Given the description of an element on the screen output the (x, y) to click on. 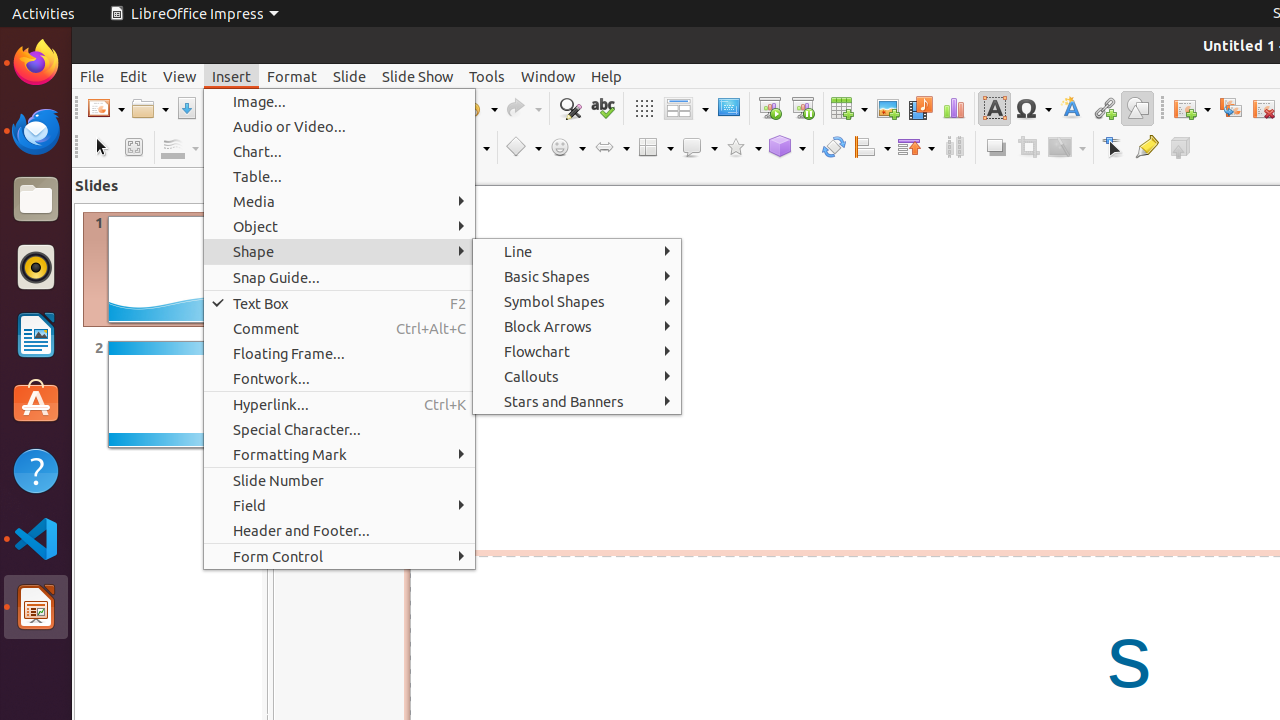
Edit Element type: menu (133, 76)
Select Element type: push-button (100, 147)
Table... Element type: menu-item (339, 176)
Ubuntu Software Element type: push-button (36, 402)
Formatting Mark Element type: menu (339, 454)
